Given the description of an element on the screen output the (x, y) to click on. 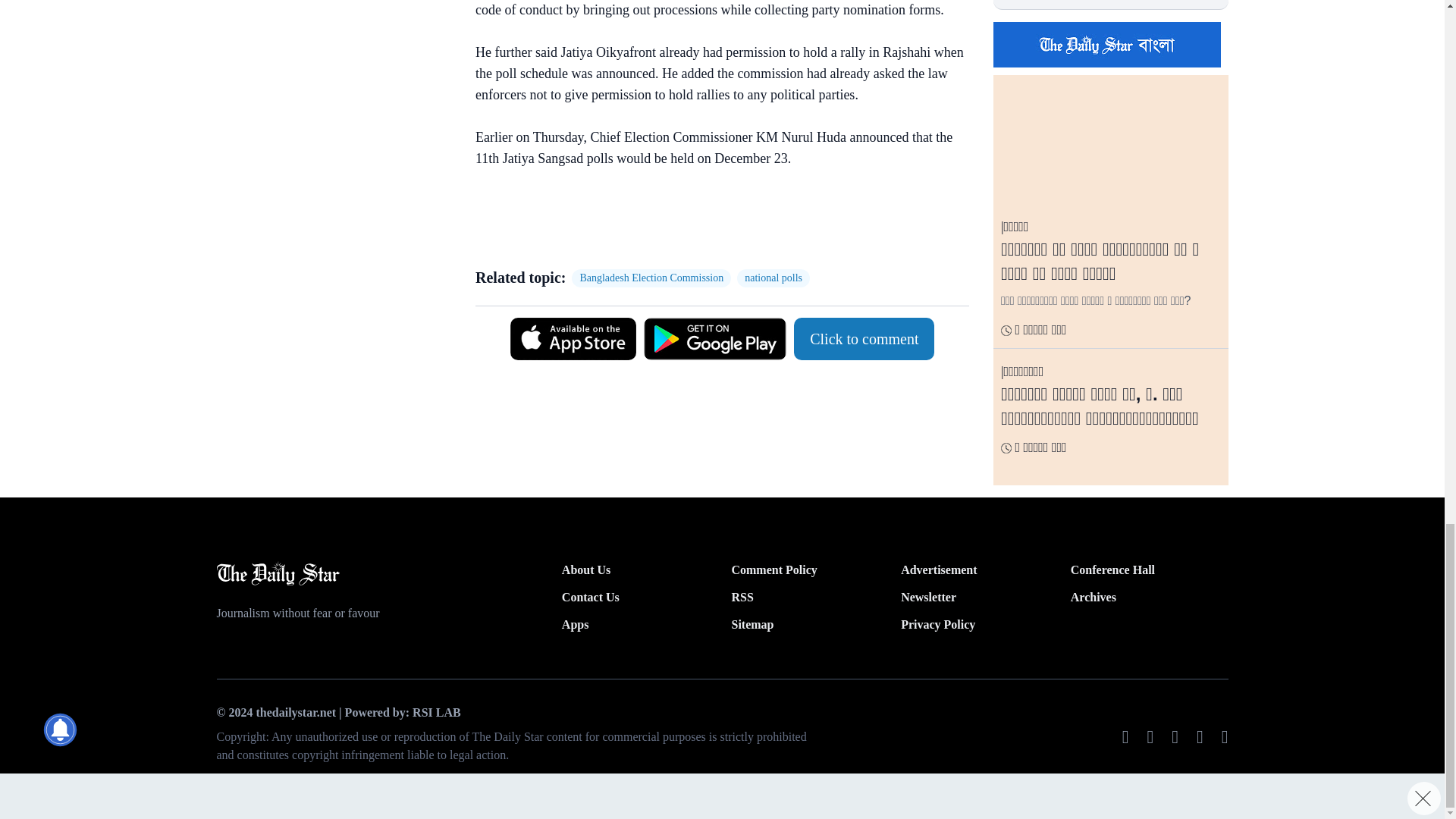
3rd party ad content (714, 220)
